Given the description of an element on the screen output the (x, y) to click on. 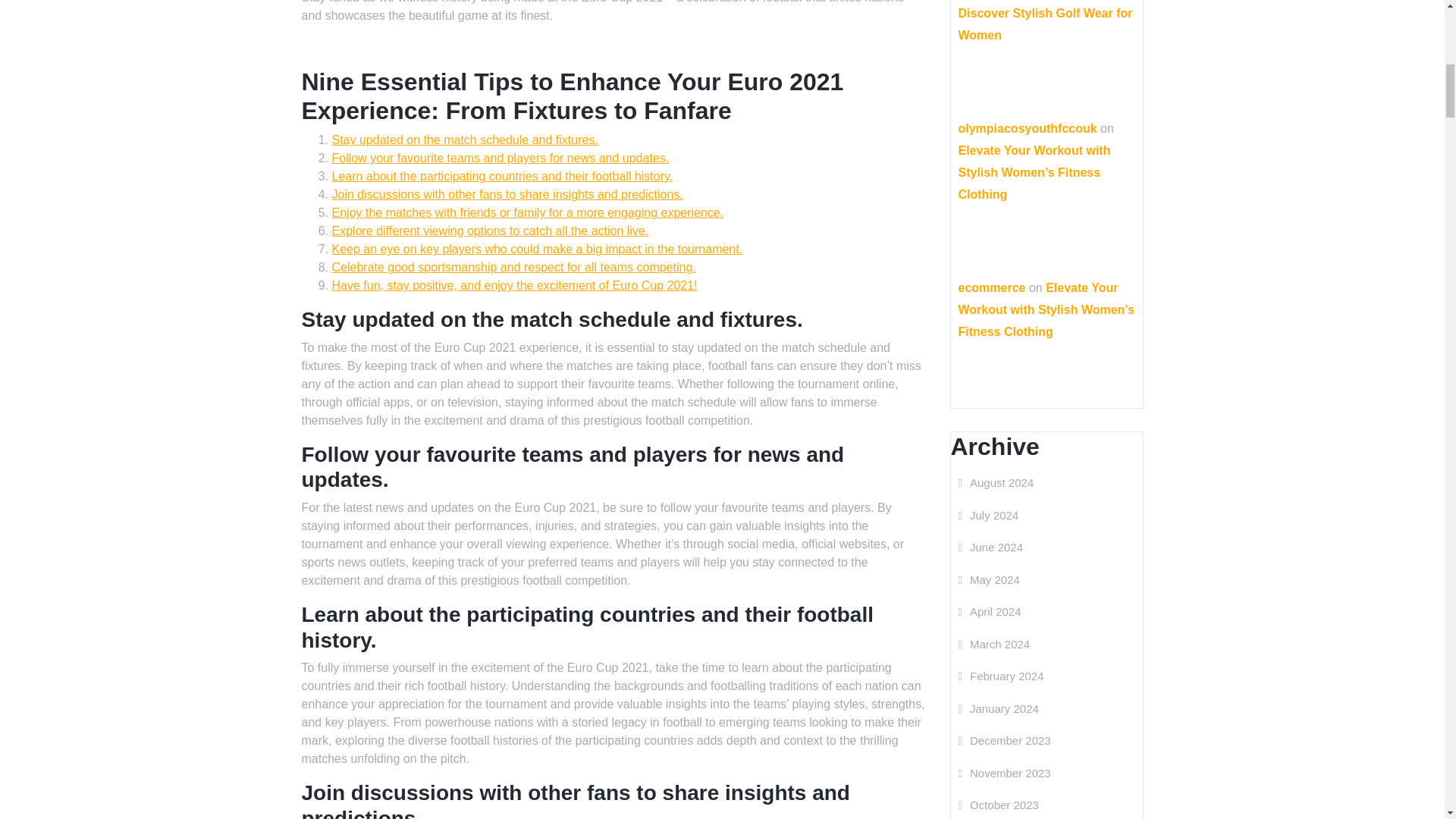
Stay updated on the match schedule and fixtures. (464, 139)
